Given the description of an element on the screen output the (x, y) to click on. 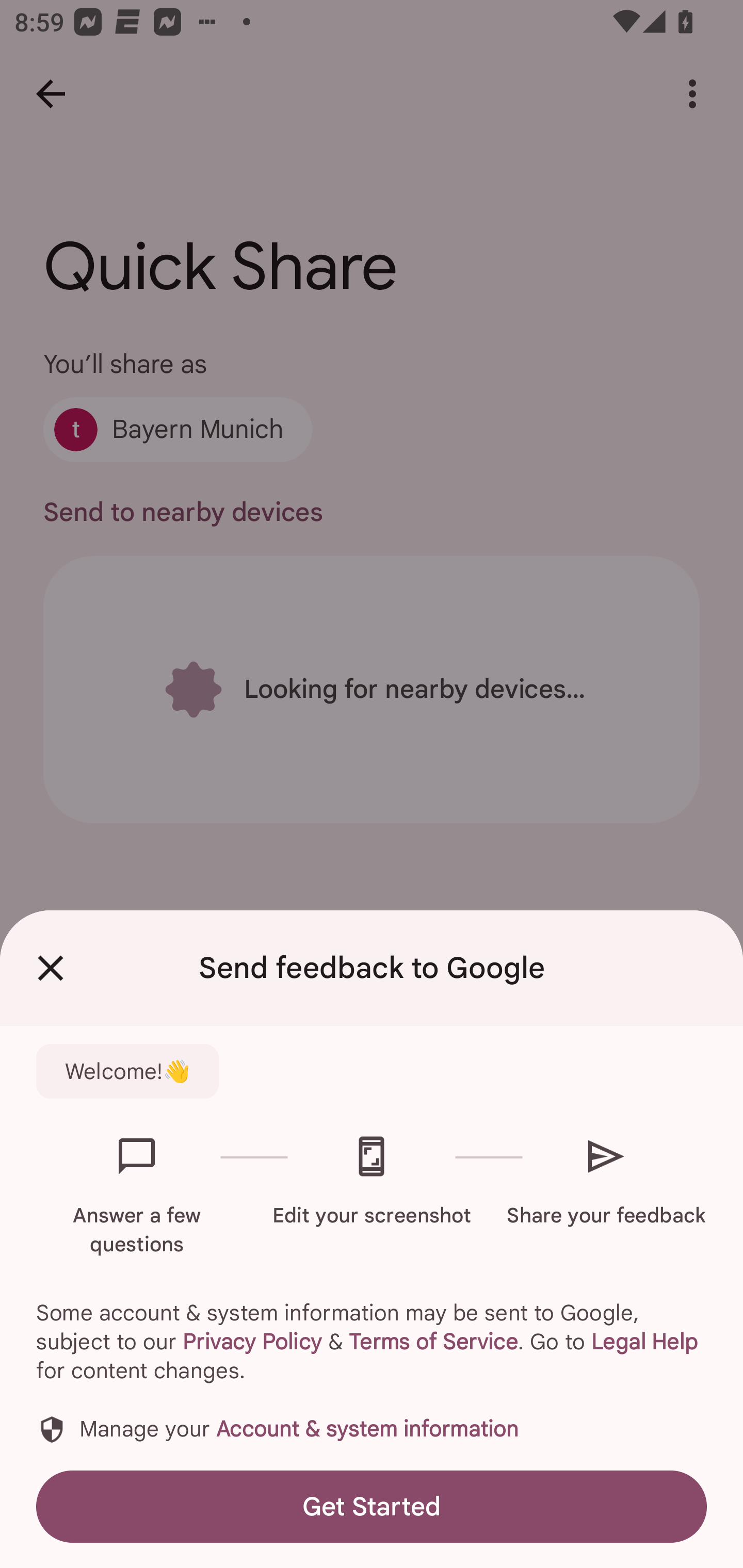
Close Feedback (50, 968)
Get Started (371, 1505)
